Given the description of an element on the screen output the (x, y) to click on. 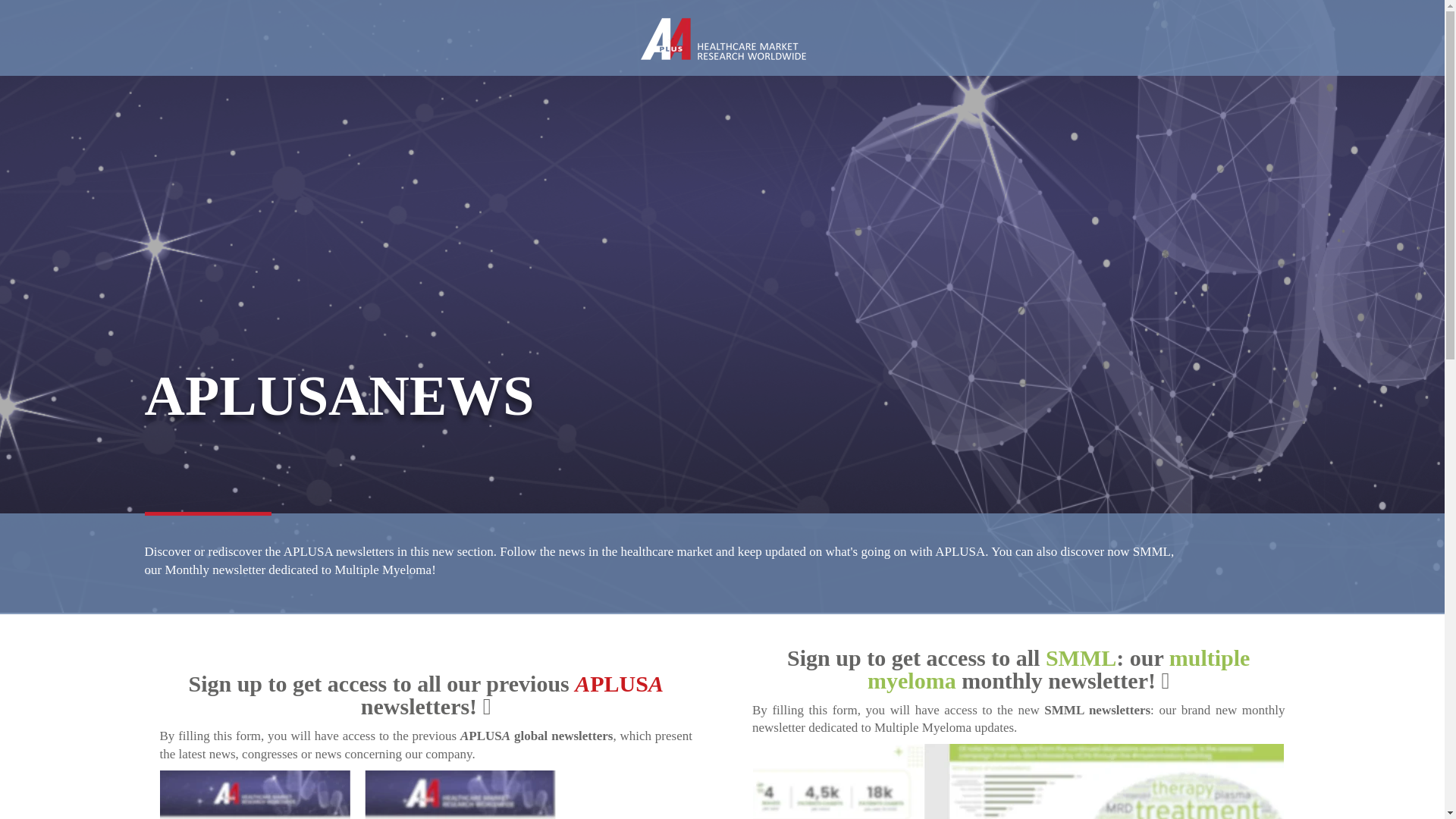
AplusA (723, 39)
